Given the description of an element on the screen output the (x, y) to click on. 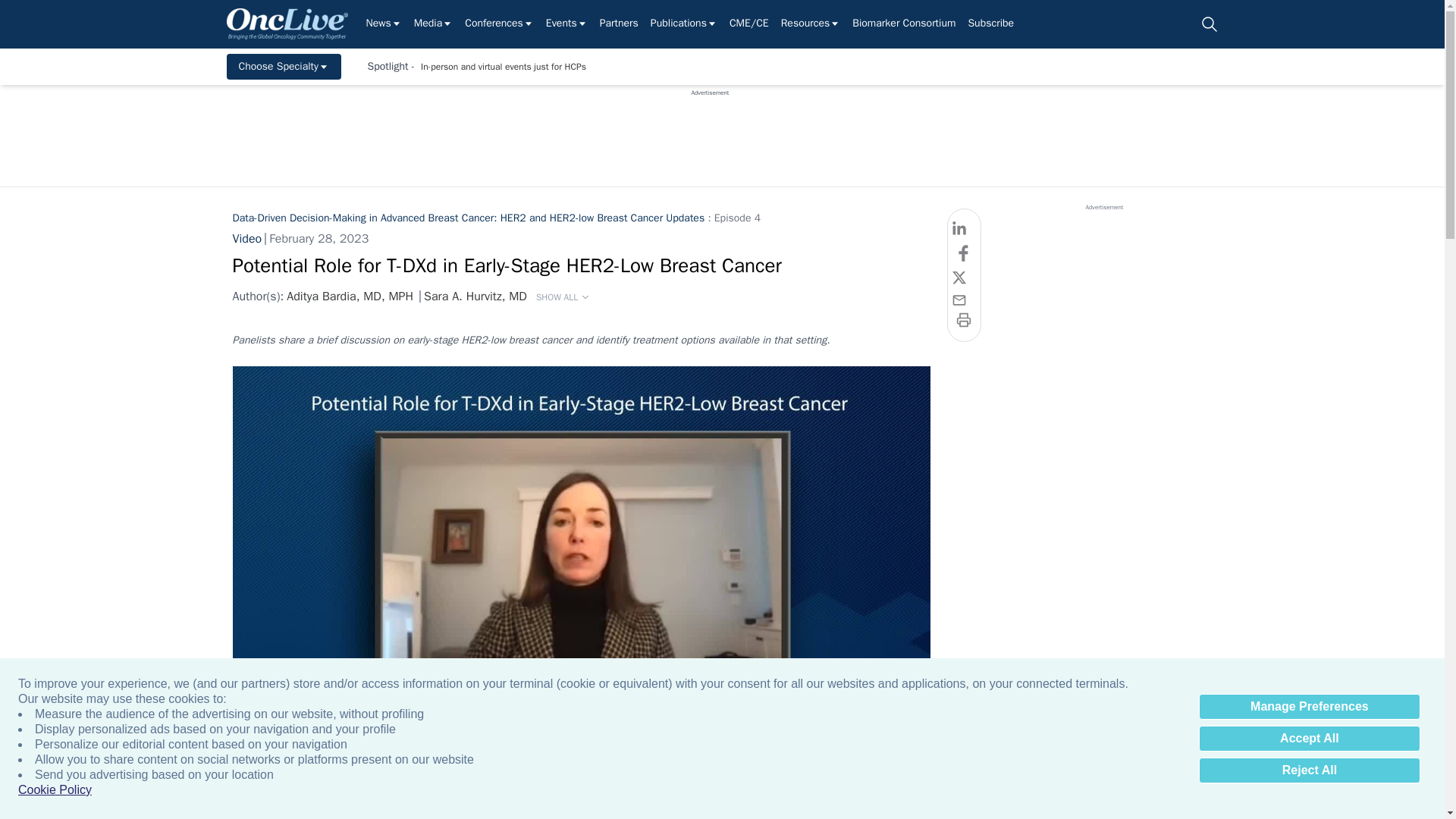
Events (567, 23)
Mute (277, 746)
Reject All (1309, 769)
Cookie Policy (54, 789)
Conferences (499, 23)
Accept All (1309, 738)
Play (246, 746)
Partners (619, 23)
Publications (683, 23)
Manage Preferences (1309, 706)
3rd party ad content (709, 131)
Playback Rate (884, 746)
Media (432, 23)
News (383, 23)
Fullscreen (914, 746)
